Given the description of an element on the screen output the (x, y) to click on. 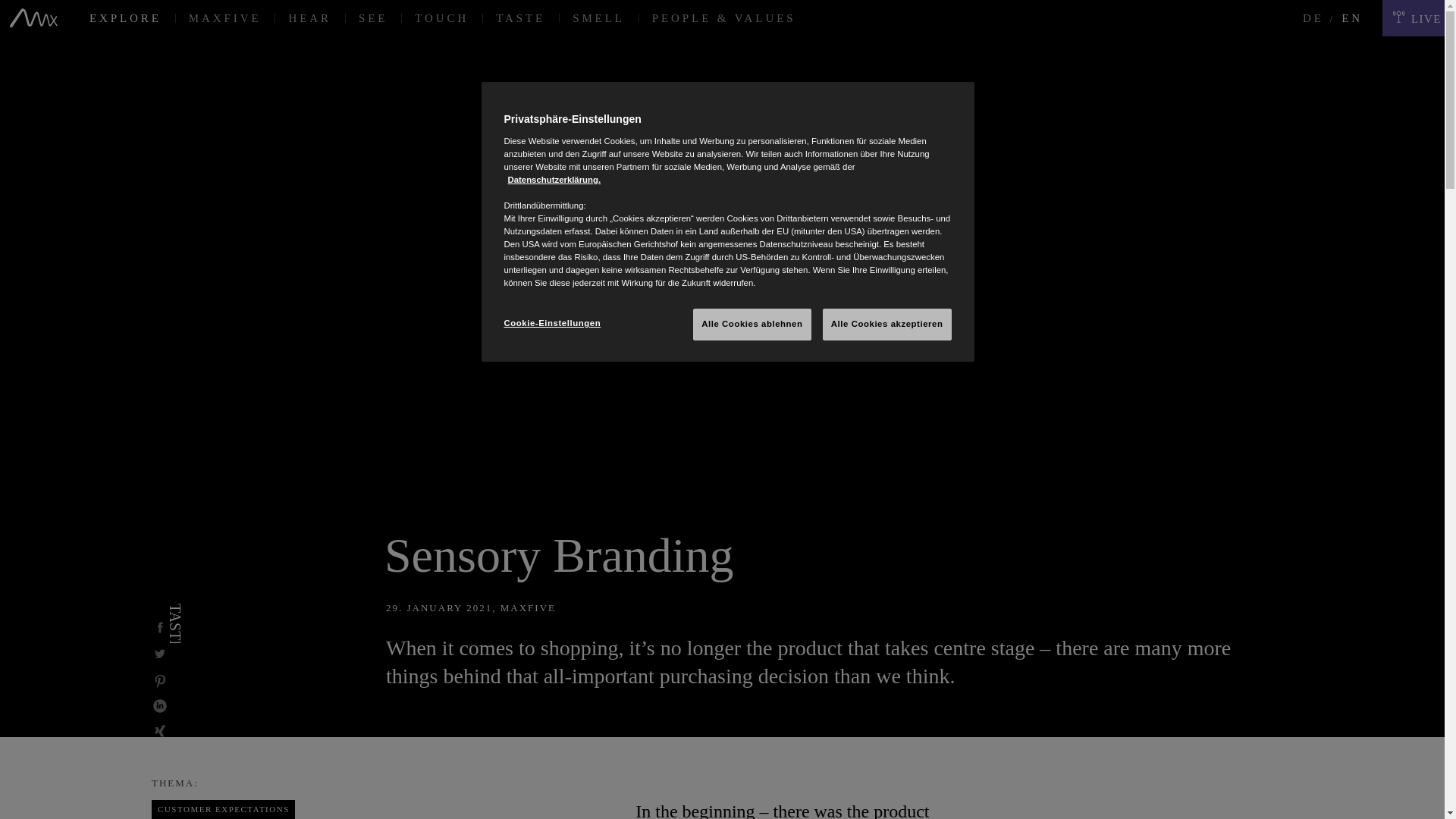
TOUCH (441, 18)
HEAR (309, 18)
DE (1312, 18)
EN (1350, 18)
SEE (373, 18)
TASTE (175, 622)
MAXFIVE (224, 18)
SMELL (599, 18)
TASTE (520, 18)
EXPLORE (124, 18)
